Given the description of an element on the screen output the (x, y) to click on. 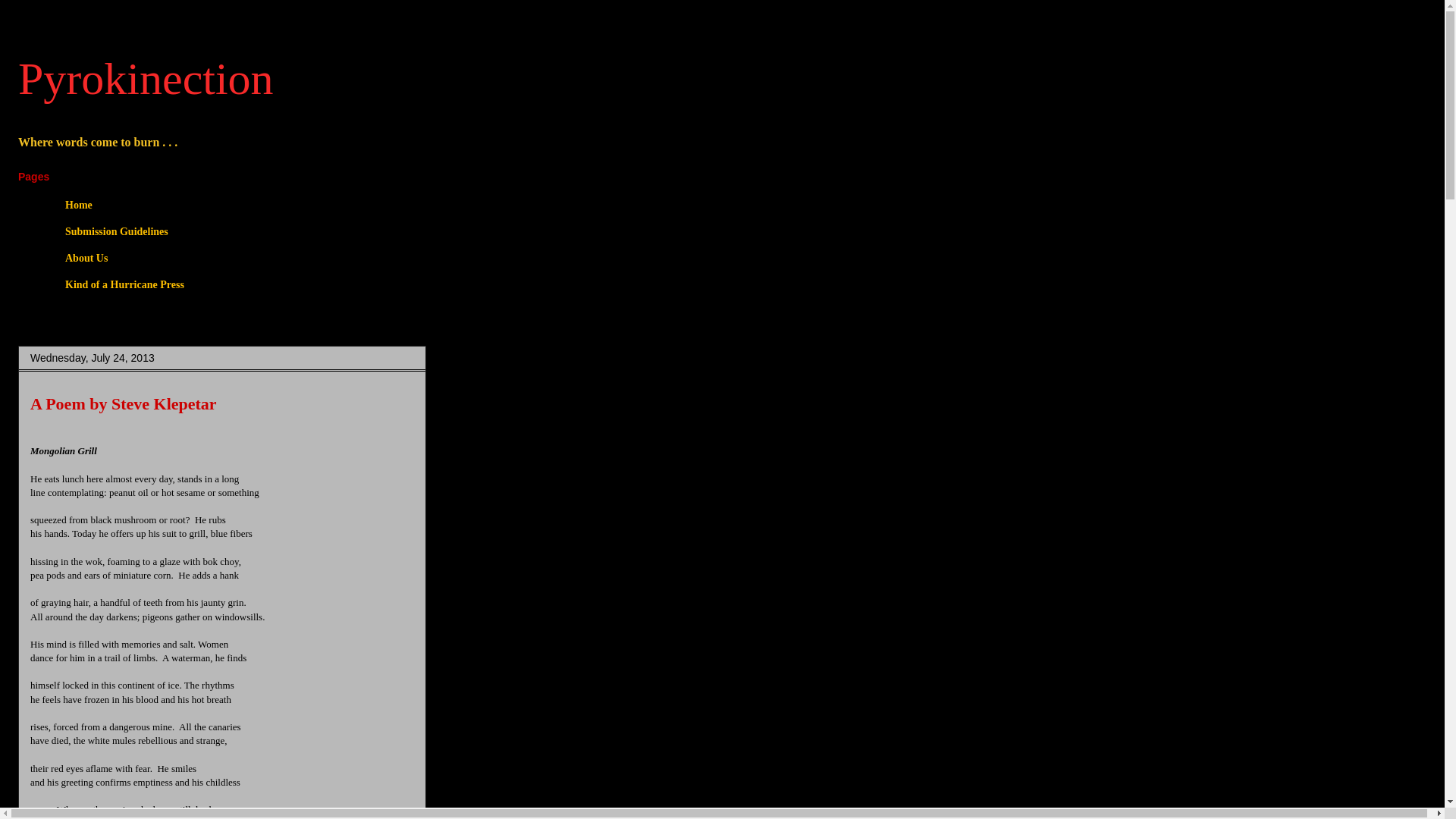
Kind of a Hurricane Press (124, 284)
About Us (85, 258)
Pyrokinection (145, 79)
Home (77, 205)
Submission Guidelines (116, 232)
